Given the description of an element on the screen output the (x, y) to click on. 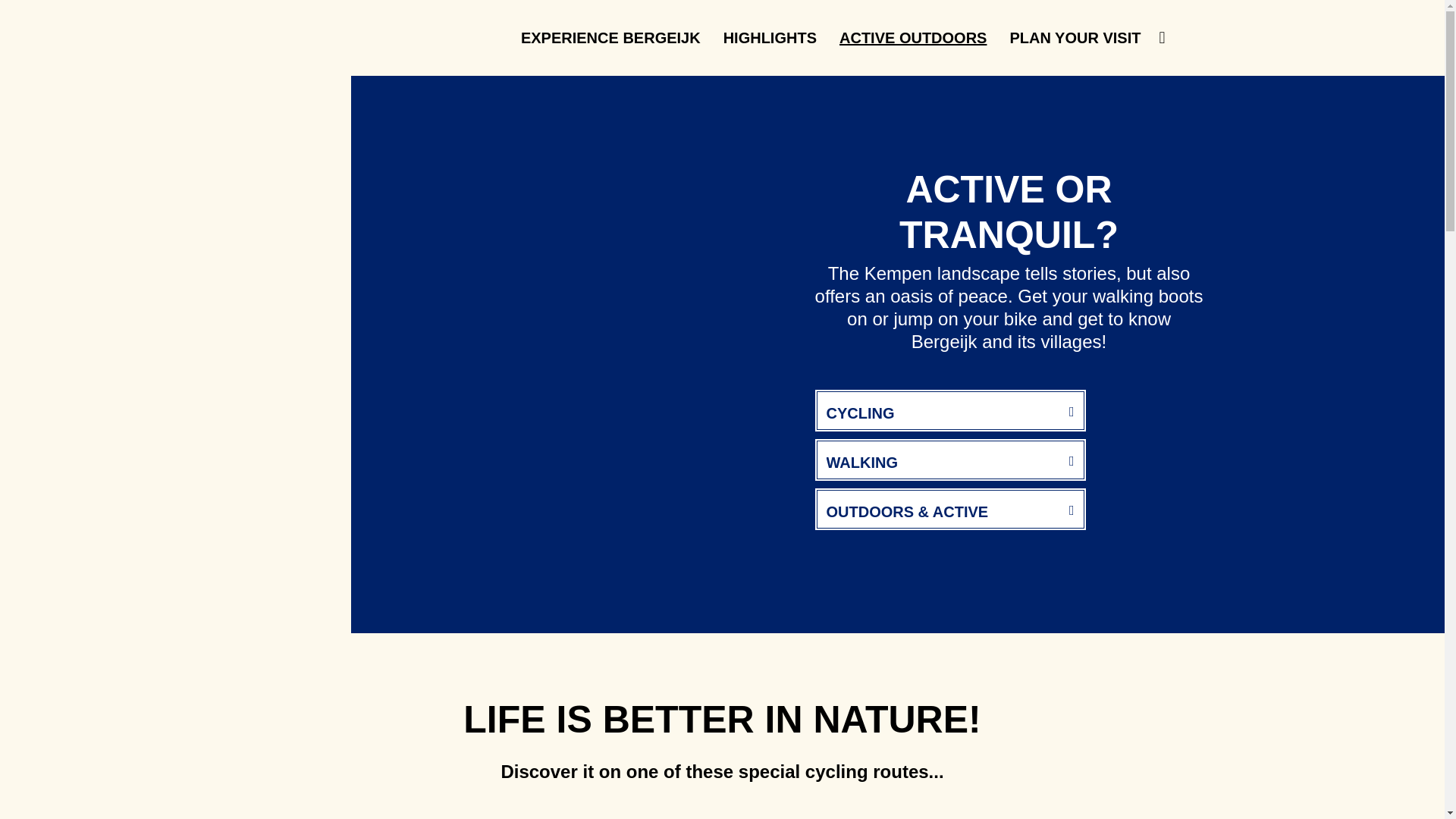
Cycling (949, 410)
ACTIVE OUTDOORS (912, 38)
EXPERIENCE BERGEIJK (611, 38)
Walking (949, 459)
GO TO THE HOMEPAGE OF VISIT BERGEIJK (320, 38)
HIGHLIGHTS (769, 38)
PLAN YOUR VISIT (1075, 38)
